Given the description of an element on the screen output the (x, y) to click on. 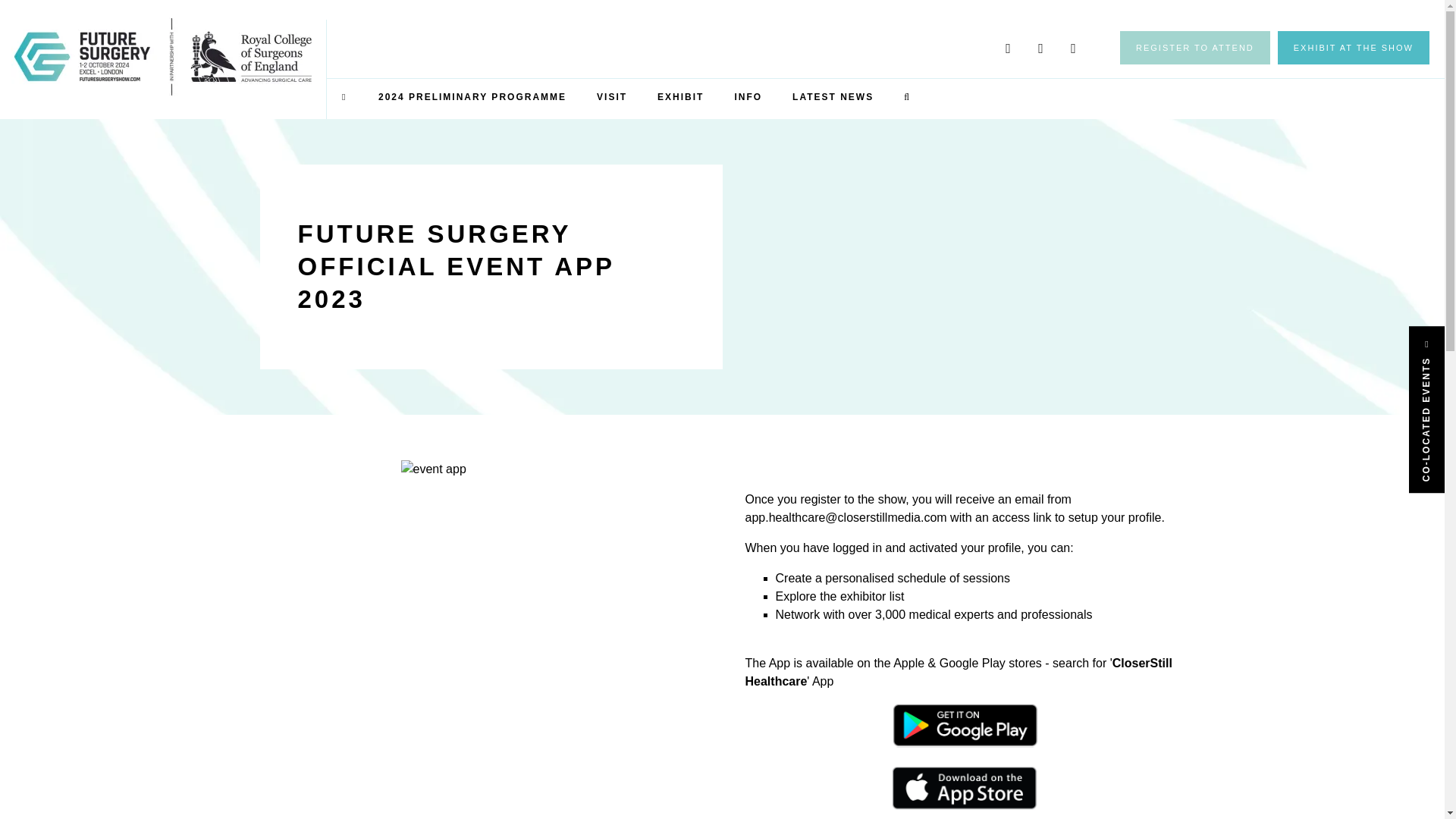
LinkedIn (1041, 48)
Twitter (1008, 48)
2024 PRELIMINARY PROGRAMME (471, 96)
HOME (344, 96)
EXHIBIT AT THE SHOW (1353, 47)
REGISTER TO ATTEND (1194, 47)
Facebook (1073, 48)
